Given the description of an element on the screen output the (x, y) to click on. 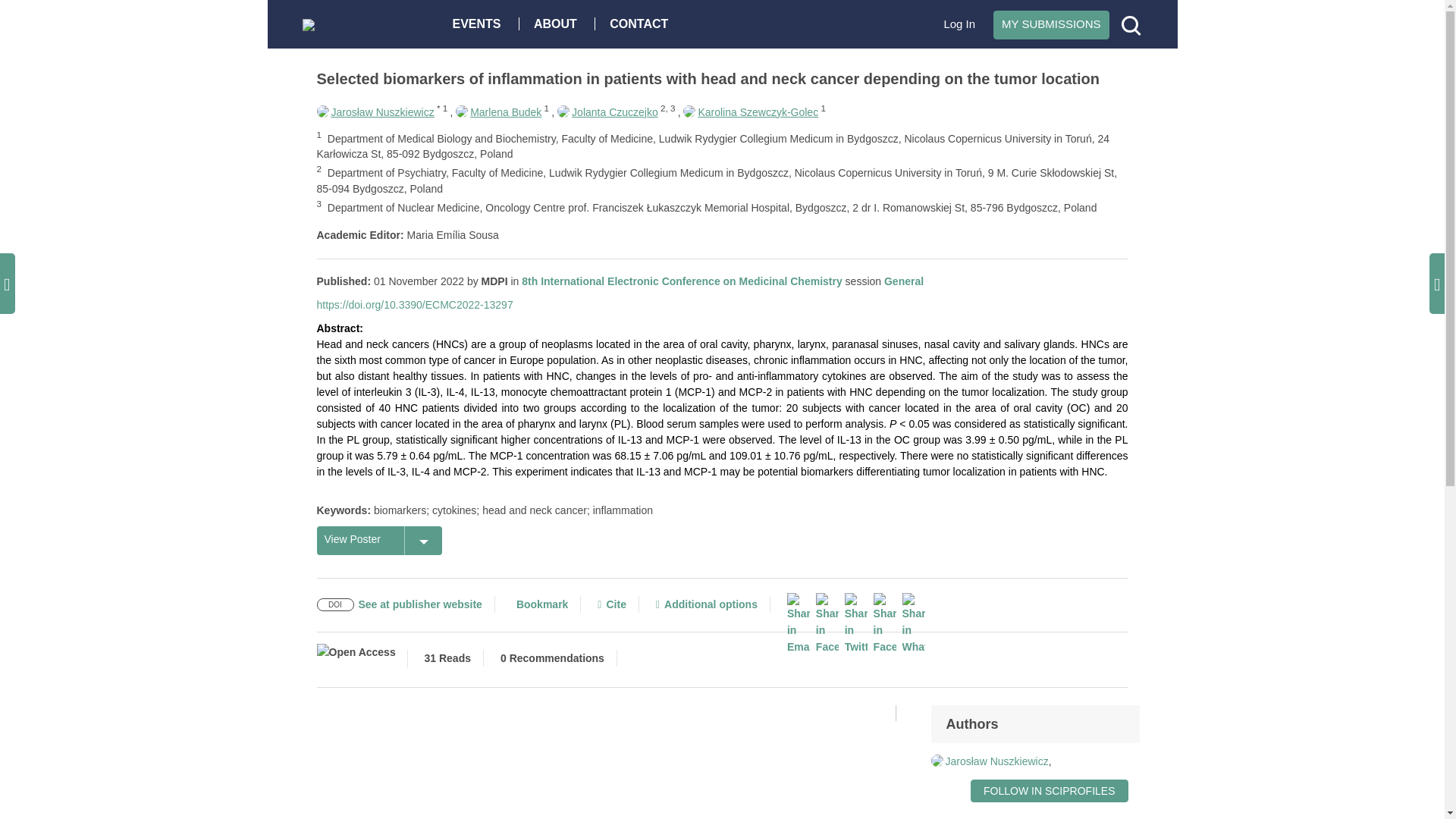
Marlena Budek (498, 111)
CONTACT (641, 23)
ABOUT (558, 23)
EVENTS (480, 23)
MY SUBMISSIONS (1050, 24)
Jolanta Czuczejko (607, 111)
